Given the description of an element on the screen output the (x, y) to click on. 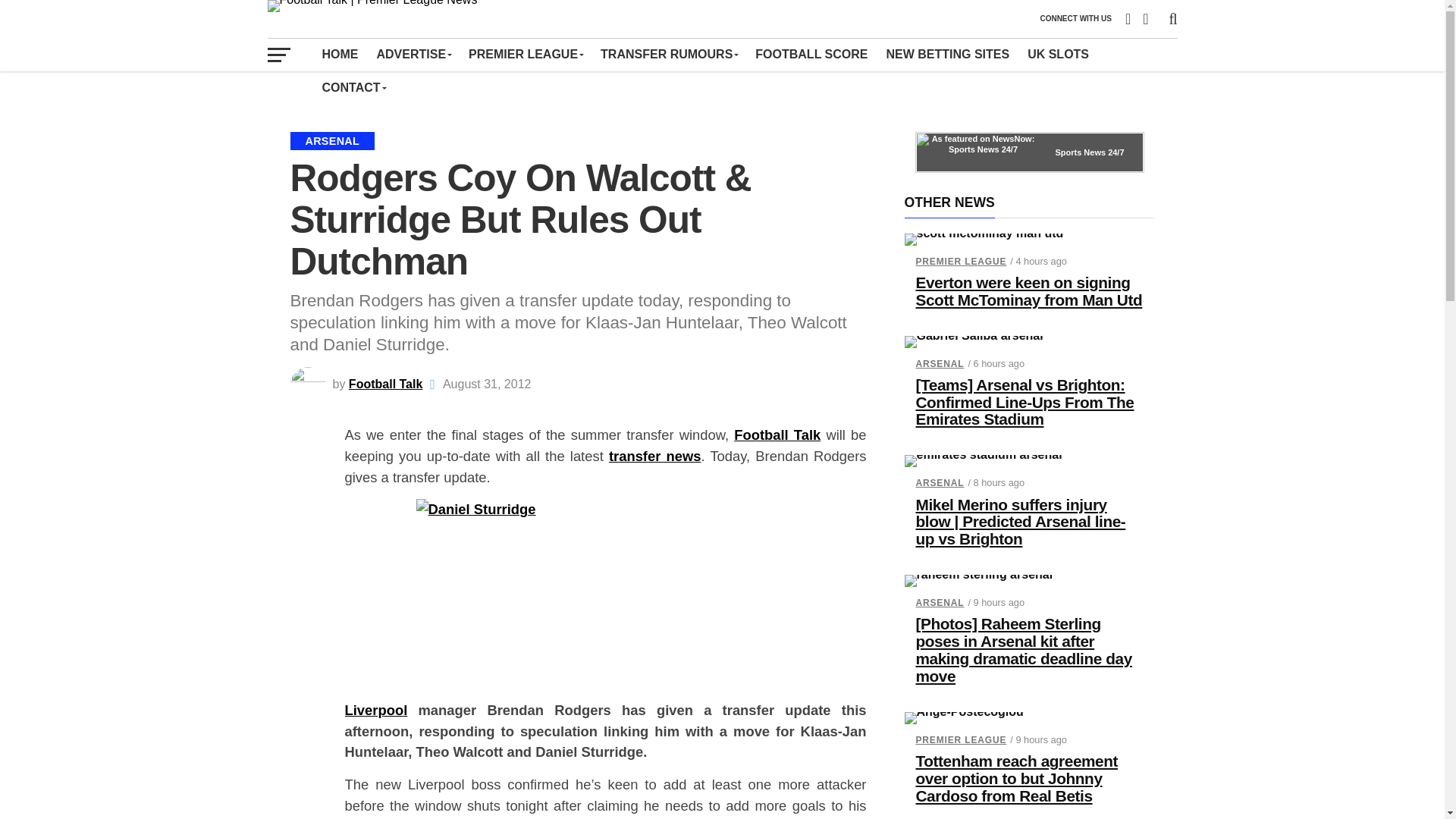
HOME (339, 54)
Premier League News (525, 54)
Advertise on Football-Talk (413, 54)
PREMIER LEAGUE (525, 54)
ADVERTISE (413, 54)
